Given the description of an element on the screen output the (x, y) to click on. 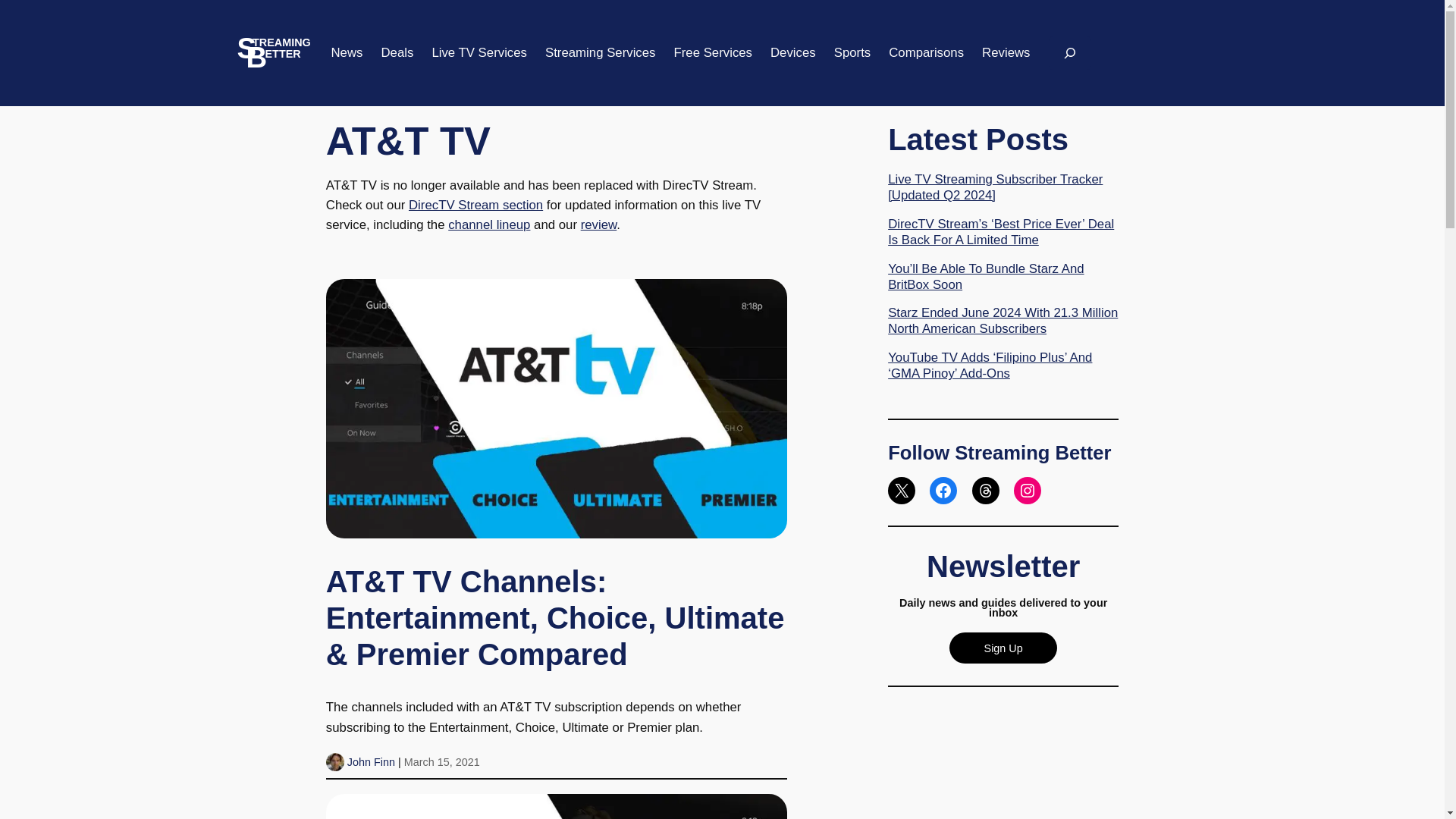
Deals (396, 53)
review (598, 224)
Devices (792, 53)
Sports (852, 53)
DirecTV Stream section (476, 205)
News (346, 53)
John Finn (370, 761)
channel lineup (488, 224)
Reviews (1005, 53)
Comparisons (925, 53)
